Given the description of an element on the screen output the (x, y) to click on. 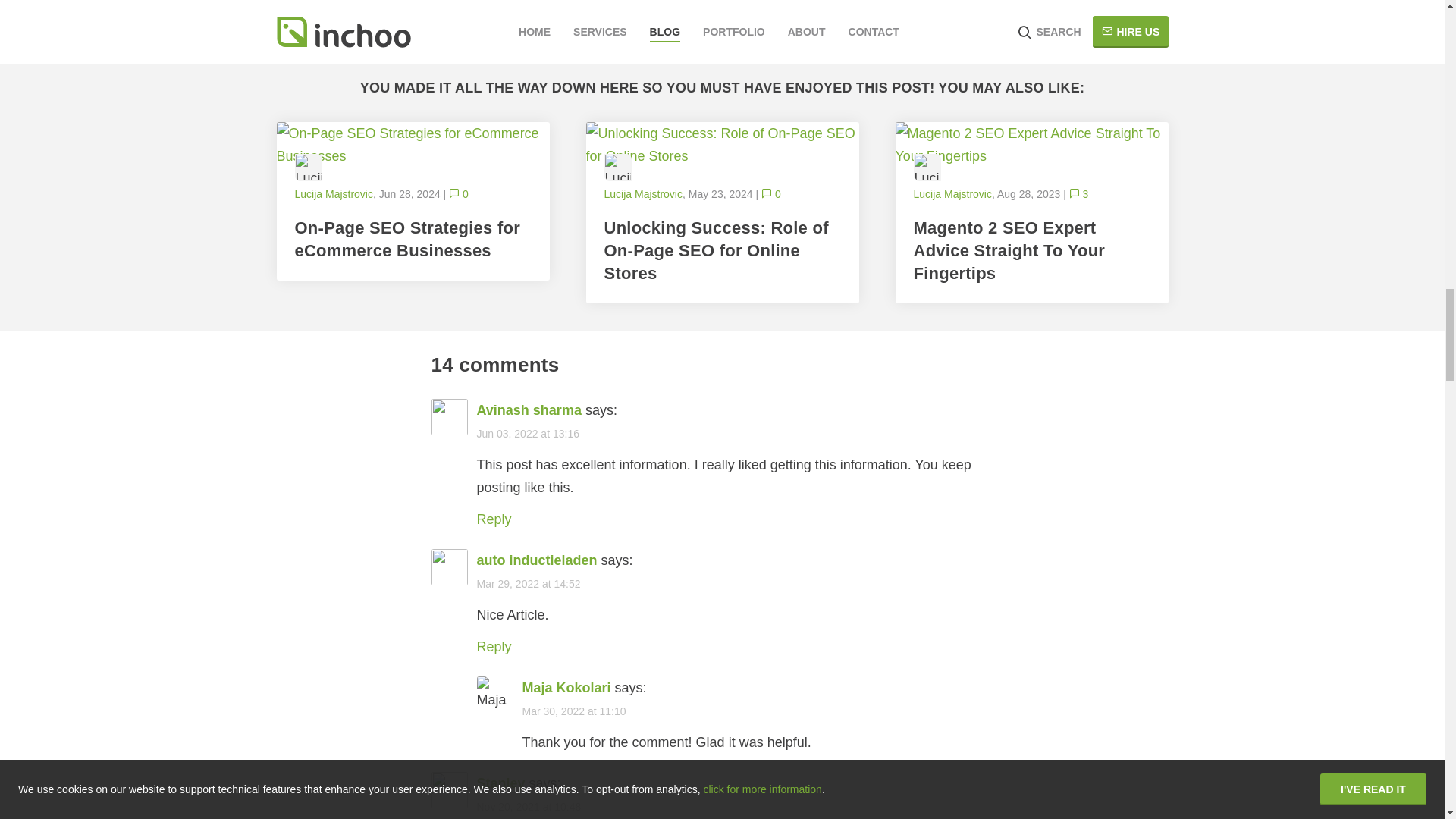
On-Page SEO Strategies for eCommerce Businesses (412, 239)
Lucija Majstrovic (307, 166)
On-Page SEO Strategies for eCommerce Businesses (412, 144)
